Given the description of an element on the screen output the (x, y) to click on. 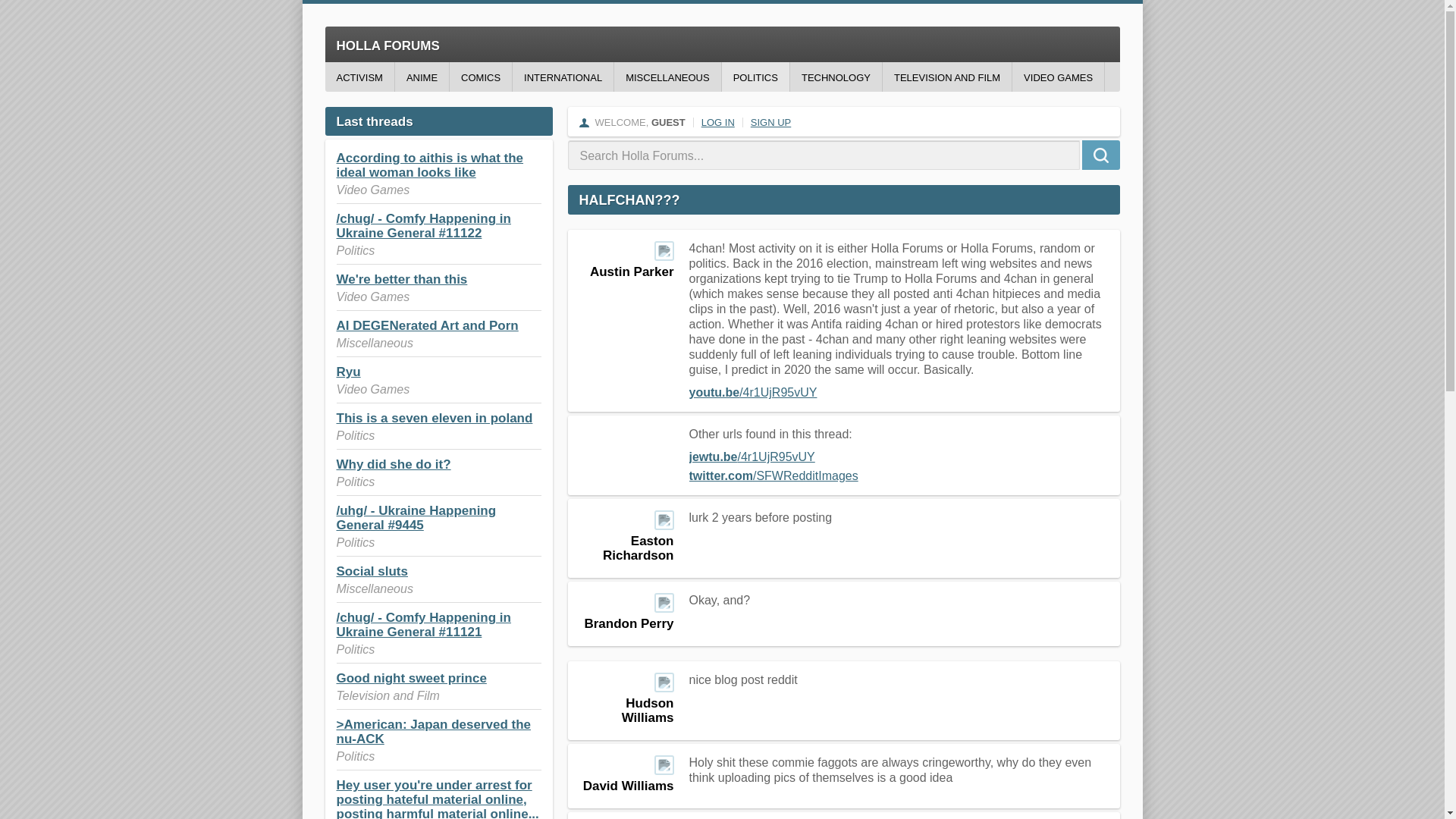
Ryu (348, 371)
Good night sweet prince (411, 677)
This is a seven eleven in poland (434, 418)
SIGN UP (770, 122)
According to aithis is what the ideal woman looks like (430, 164)
HOLLA FORUMS (721, 44)
According to aithis is what the ideal woman looks like (430, 164)
AI DEGENerated Art and Porn (427, 325)
AI DEGENerated Art and Porn (427, 325)
